Given the description of an element on the screen output the (x, y) to click on. 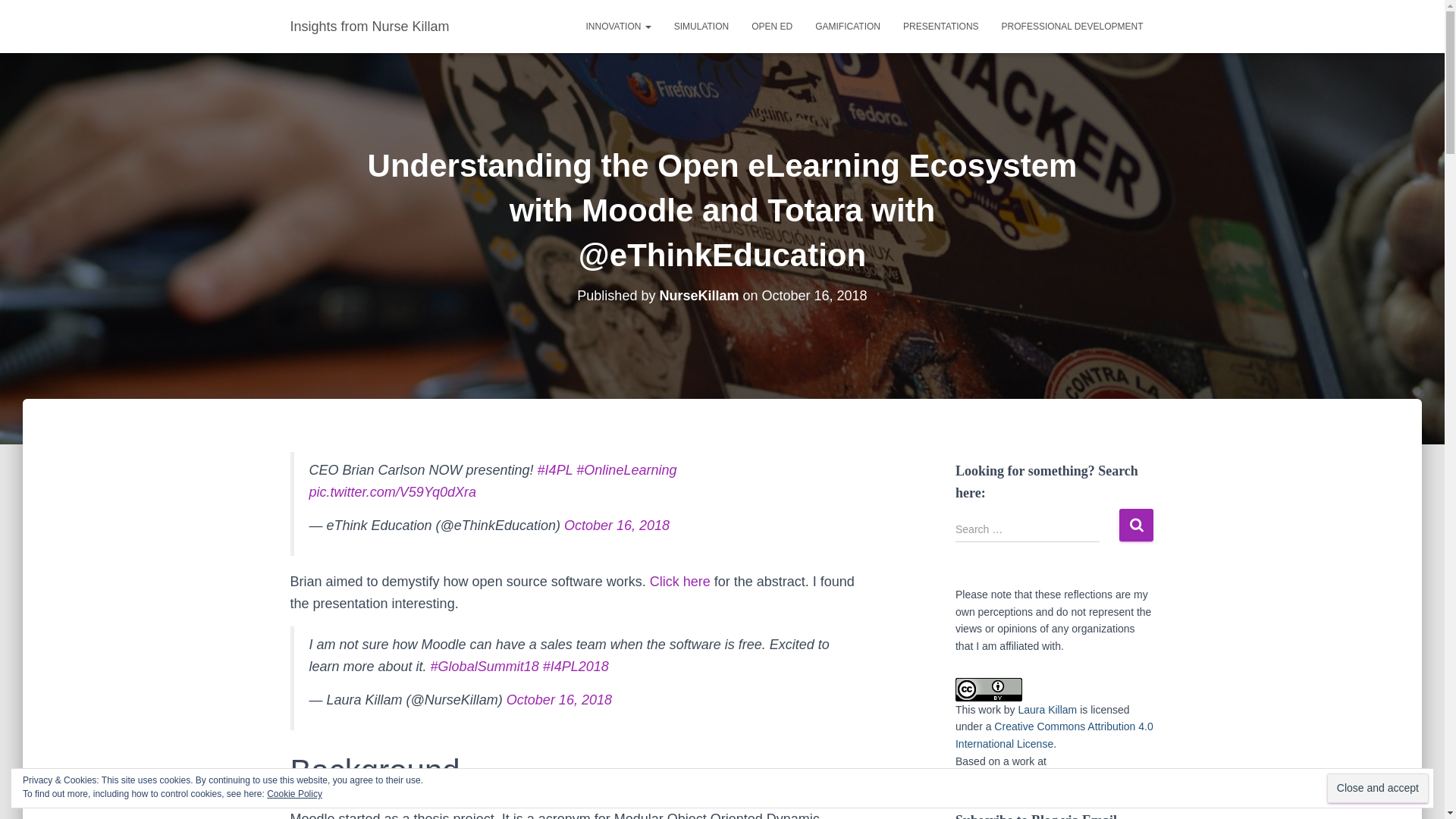
Search (1136, 524)
PROFESSIONAL DEVELOPMENT (1072, 26)
Close and accept (1377, 788)
Insights from Nurse Killam (370, 26)
October 16, 2018 (616, 525)
Search (1136, 524)
OPEN ED (771, 26)
NurseKillam (698, 295)
Innovation (618, 26)
Open Ed (771, 26)
